Given the description of an element on the screen output the (x, y) to click on. 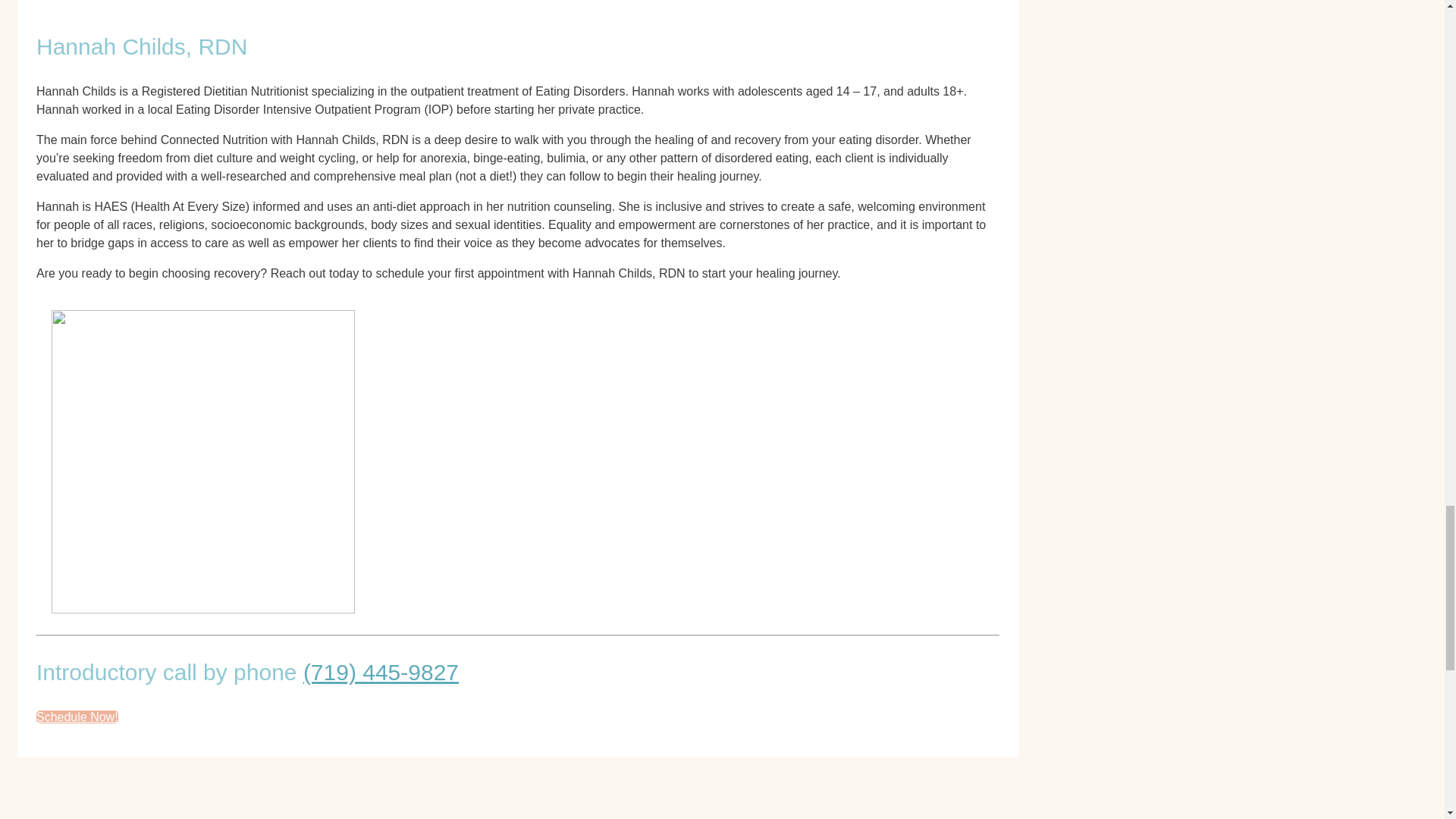
Schedule Now! (76, 716)
